Given the description of an element on the screen output the (x, y) to click on. 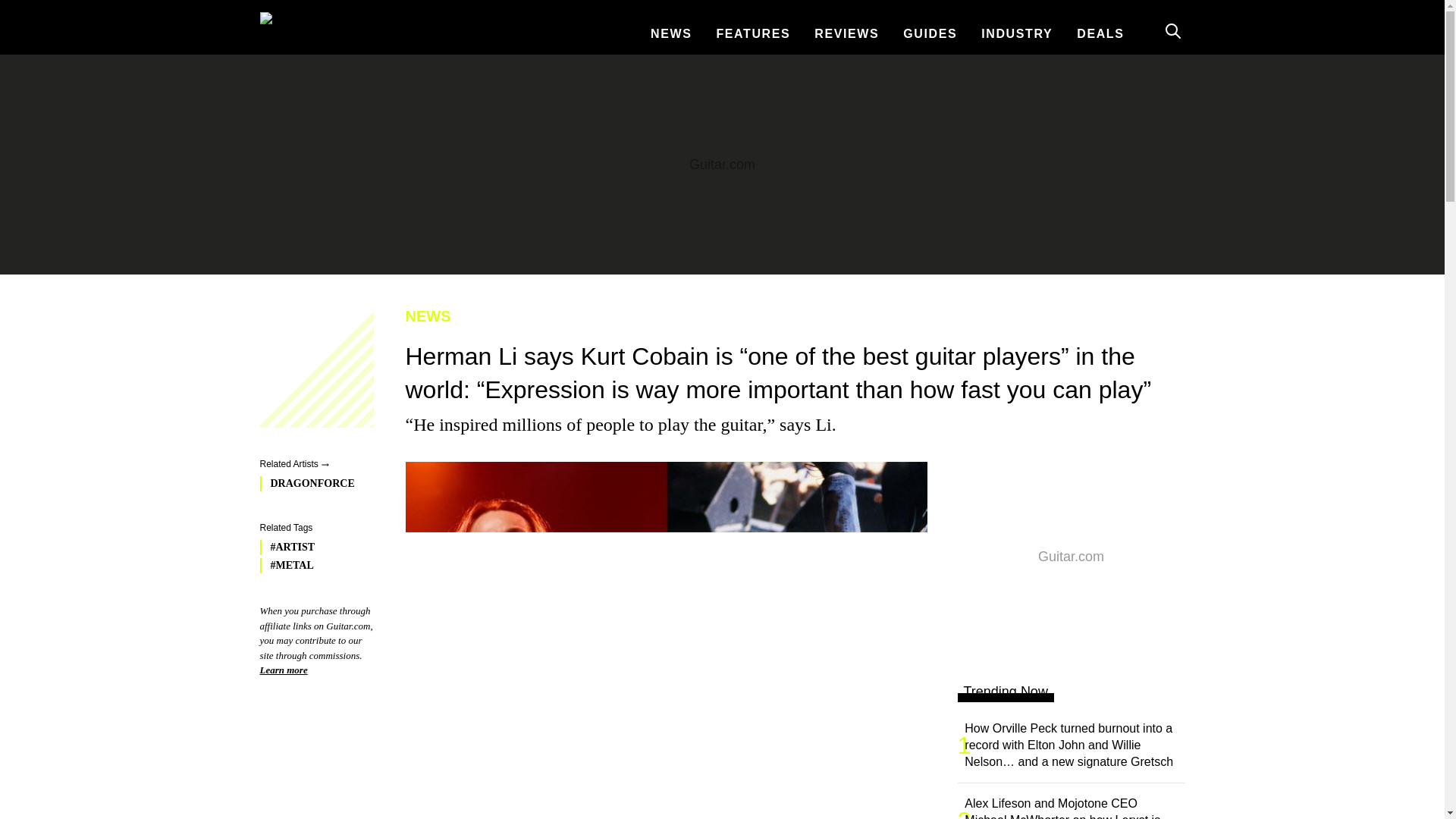
REVIEWS (846, 33)
Metal (312, 565)
GUIDES (929, 33)
Artist (312, 547)
DRAGONFORCE (312, 483)
DragonForce (312, 483)
NEWS (789, 315)
Learn more (283, 669)
DEALS (1099, 33)
News (789, 315)
FEATURES (753, 33)
INDUSTRY (1016, 33)
NEWS (671, 33)
